Given the description of an element on the screen output the (x, y) to click on. 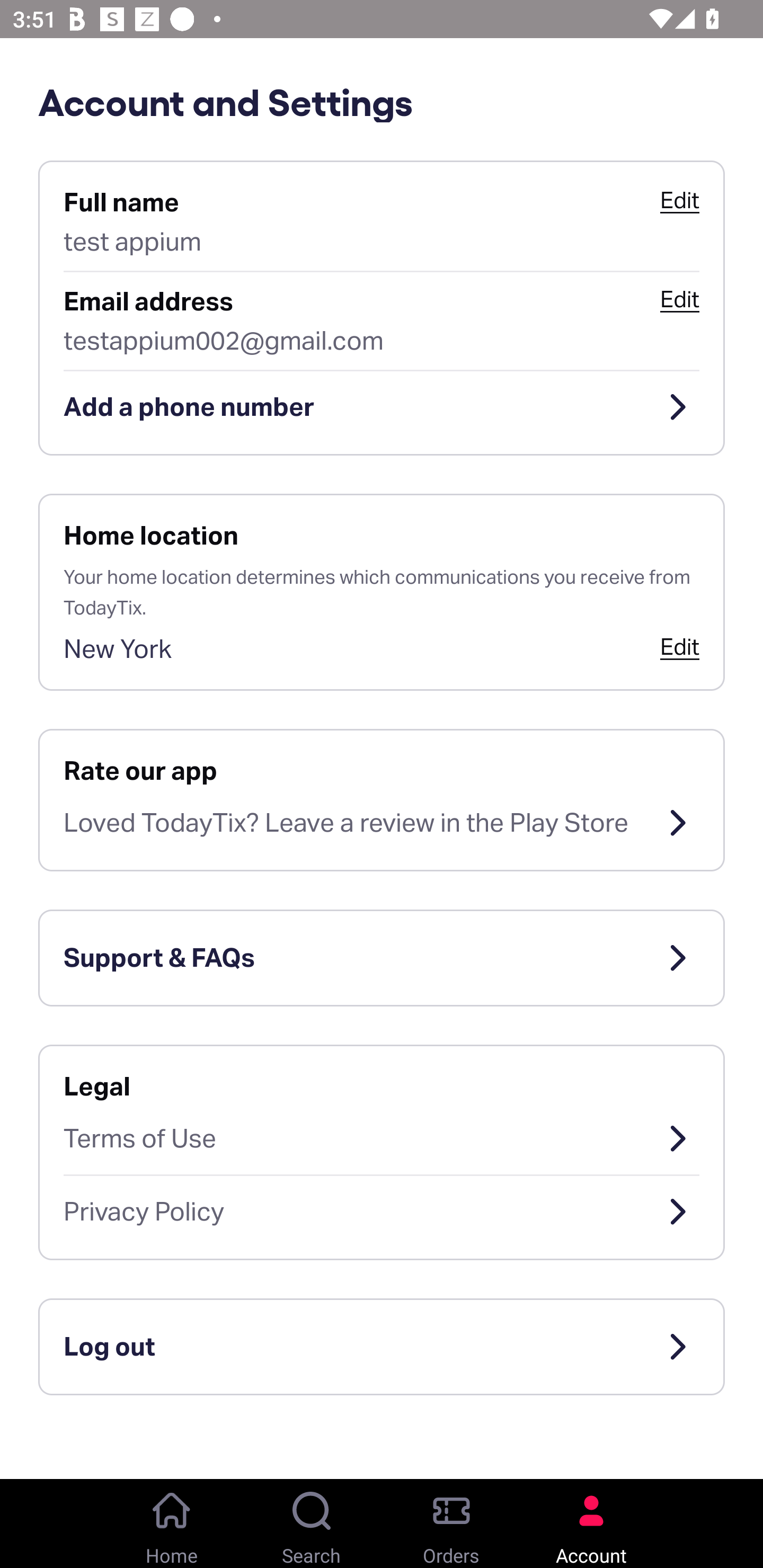
Edit (679, 200)
Edit (679, 299)
Add a phone number (381, 406)
Edit (679, 646)
Loved TodayTix? Leave a review in the Play Store (381, 822)
Support & FAQs (381, 957)
Terms of Use (381, 1137)
Privacy Policy (381, 1211)
Log out (381, 1346)
Home (171, 1523)
Search (311, 1523)
Orders (451, 1523)
